Given the description of an element on the screen output the (x, y) to click on. 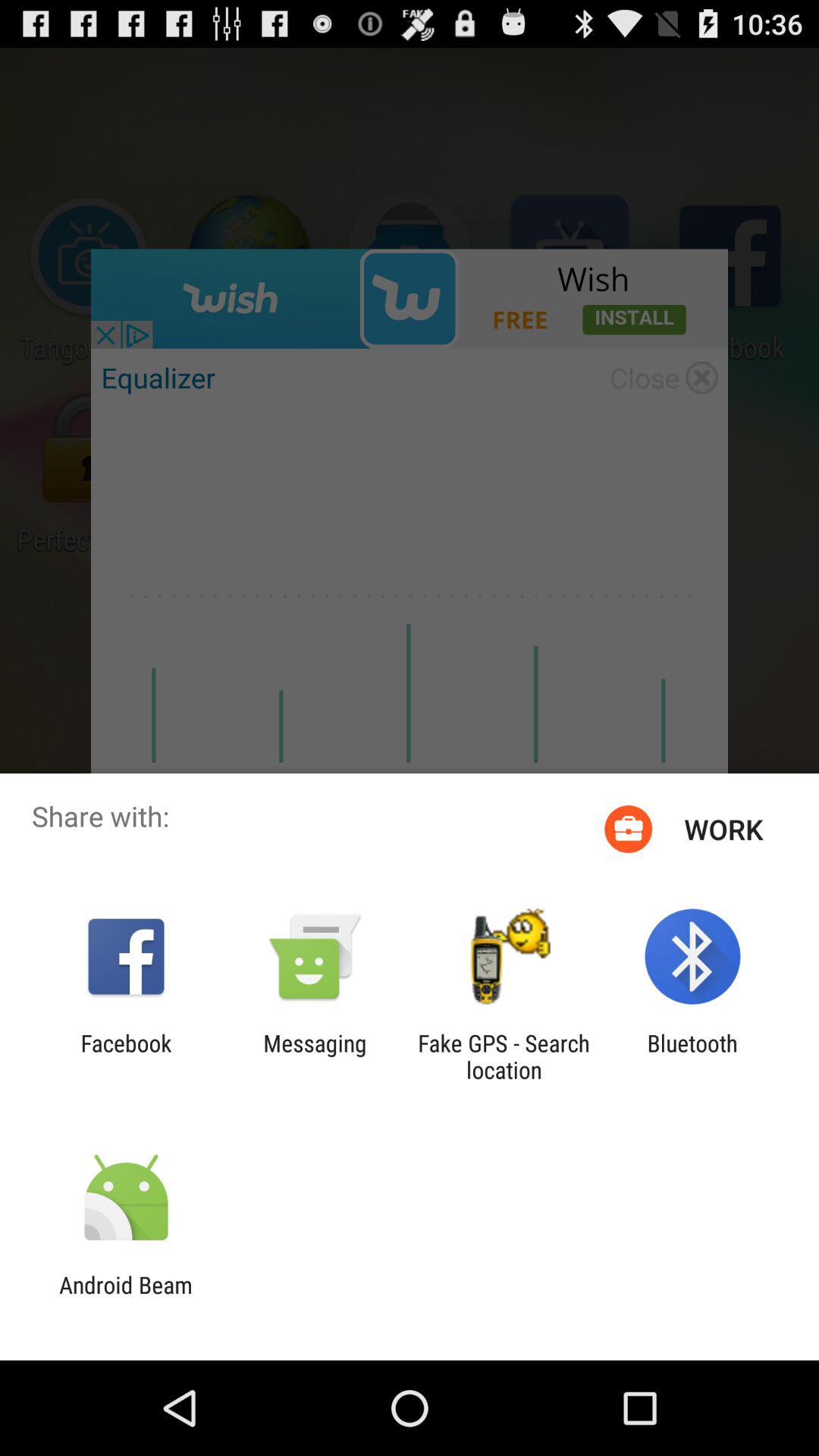
turn on the item to the right of the messaging (503, 1056)
